Given the description of an element on the screen output the (x, y) to click on. 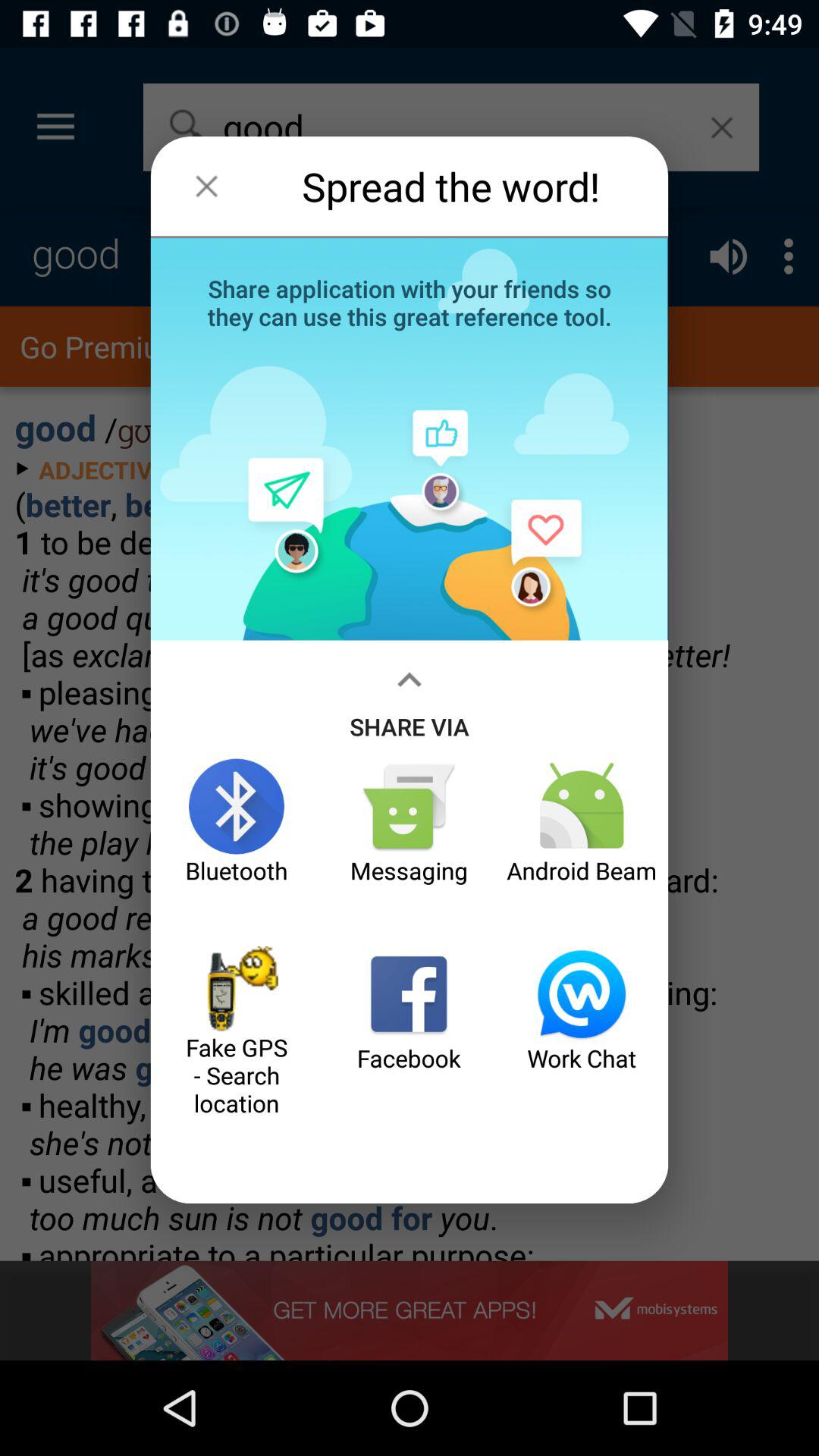
press the item to the left of spread the word! icon (206, 186)
